Given the description of an element on the screen output the (x, y) to click on. 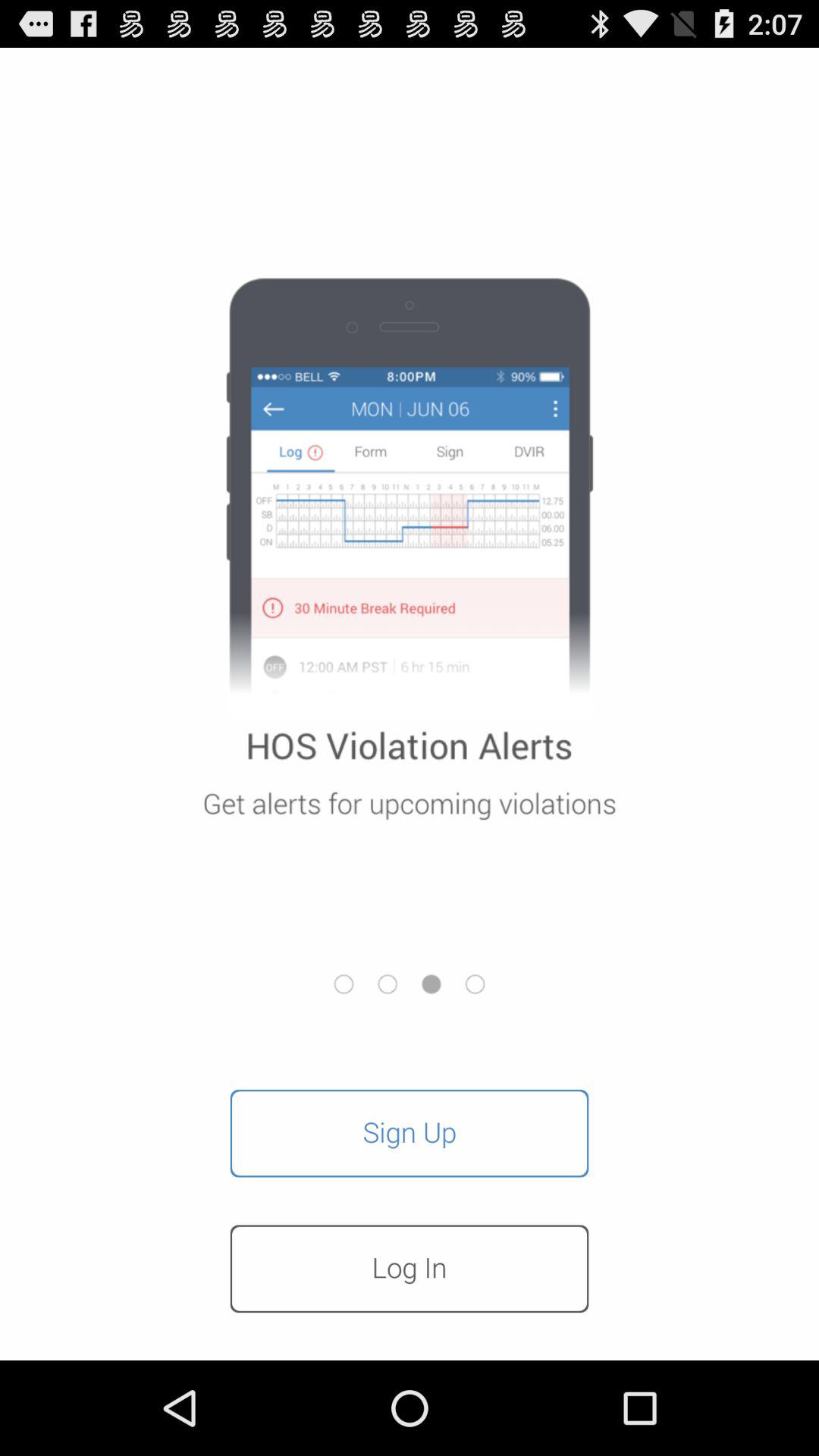
tap item below sign up item (409, 1268)
